Given the description of an element on the screen output the (x, y) to click on. 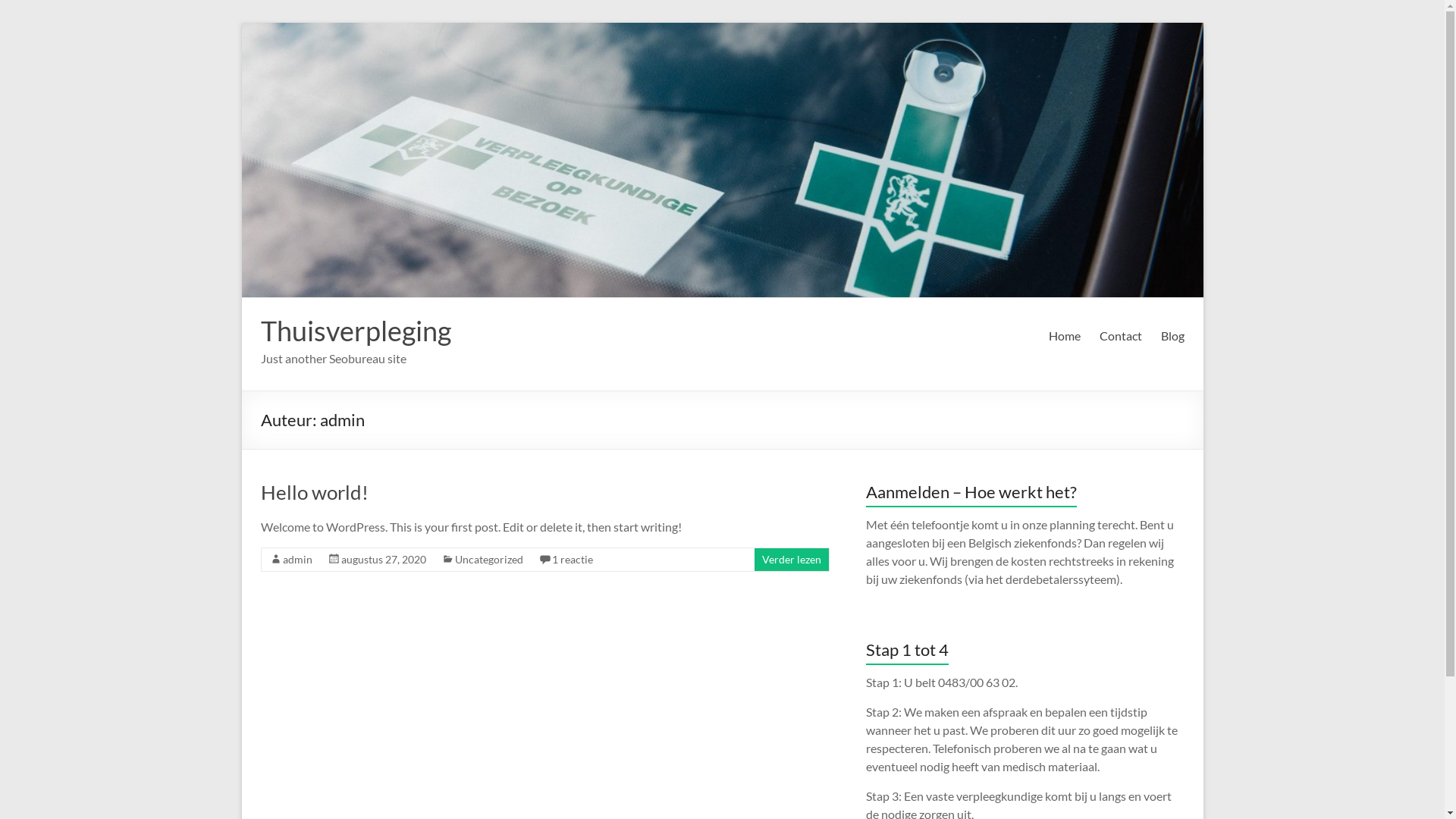
Ga naar inhoud Element type: text (241, 21)
Home Element type: text (1063, 335)
augustus 27, 2020 Element type: text (383, 558)
Blog Element type: text (1171, 335)
admin Element type: text (296, 558)
Contact Element type: text (1120, 335)
1 reactie Element type: text (572, 558)
Thuisverpleging Element type: text (355, 330)
Verder lezen Element type: text (790, 558)
Uncategorized Element type: text (489, 558)
Hello world! Element type: text (314, 492)
